Given the description of an element on the screen output the (x, y) to click on. 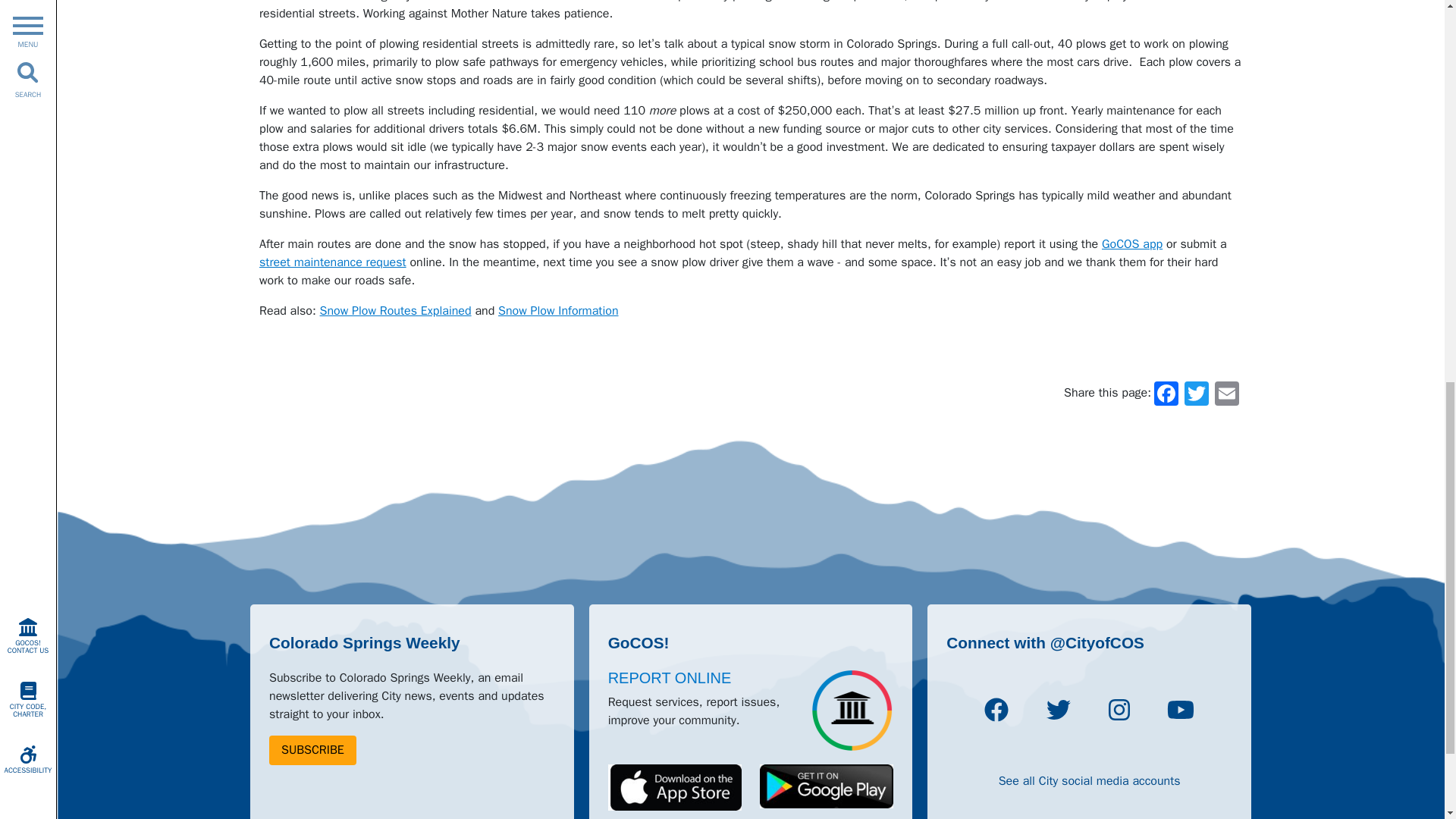
See all City social media accounts (1089, 780)
Instagram (1118, 710)
Snow Plow Information (557, 310)
SUBSCRIBE (312, 749)
Facebook (1165, 392)
Twitter (1196, 392)
street maintenance request (332, 262)
GoCOS app (1131, 243)
Twitter (1058, 710)
Facebook (996, 710)
Youtube (1180, 710)
Snow Plow Routes Explained (395, 310)
Email (1226, 392)
